Given the description of an element on the screen output the (x, y) to click on. 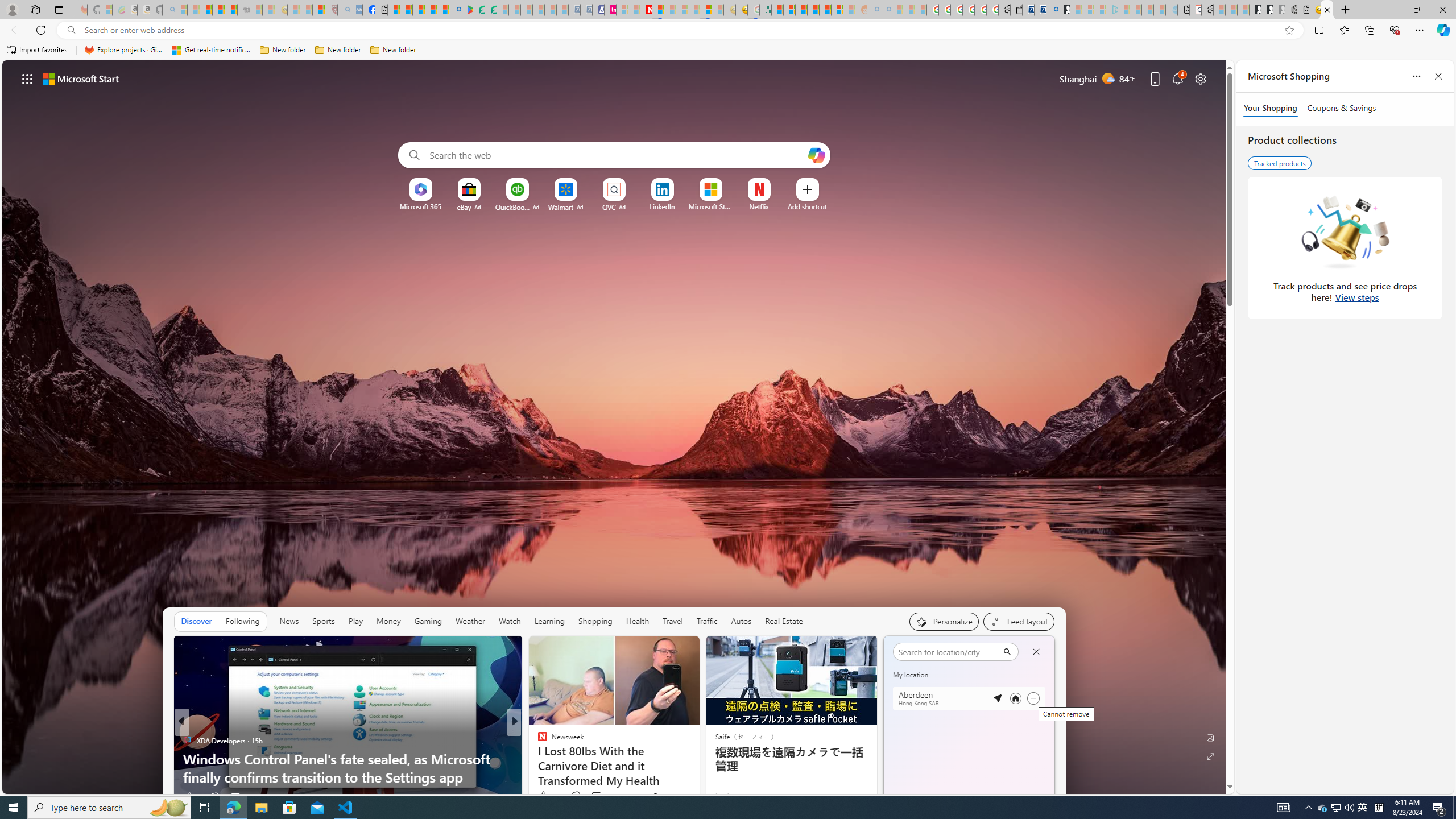
AutomationID: backgroundImagePicture (613, 426)
search (947, 651)
15 Anti-Aging Foods to Add to Your Diet (697, 777)
Cannot remove (1032, 698)
Detected location (997, 698)
Set as your primary location (1015, 698)
INSIDER (537, 740)
How to restart your PC with just the keyboard (697, 777)
